Given the description of an element on the screen output the (x, y) to click on. 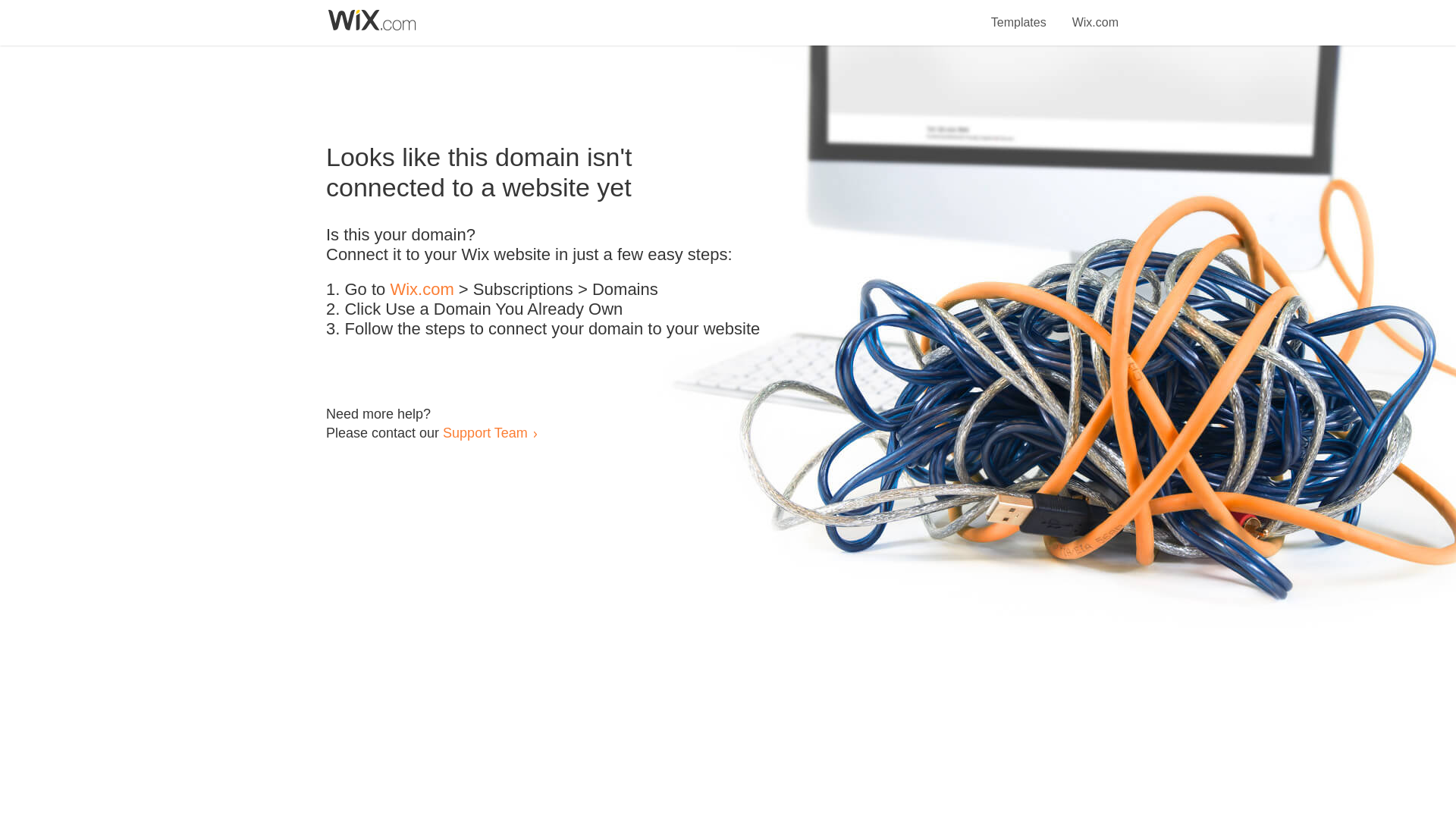
Templates (1018, 14)
Wix.com (421, 289)
Support Team (484, 432)
Wix.com (1095, 14)
